Given the description of an element on the screen output the (x, y) to click on. 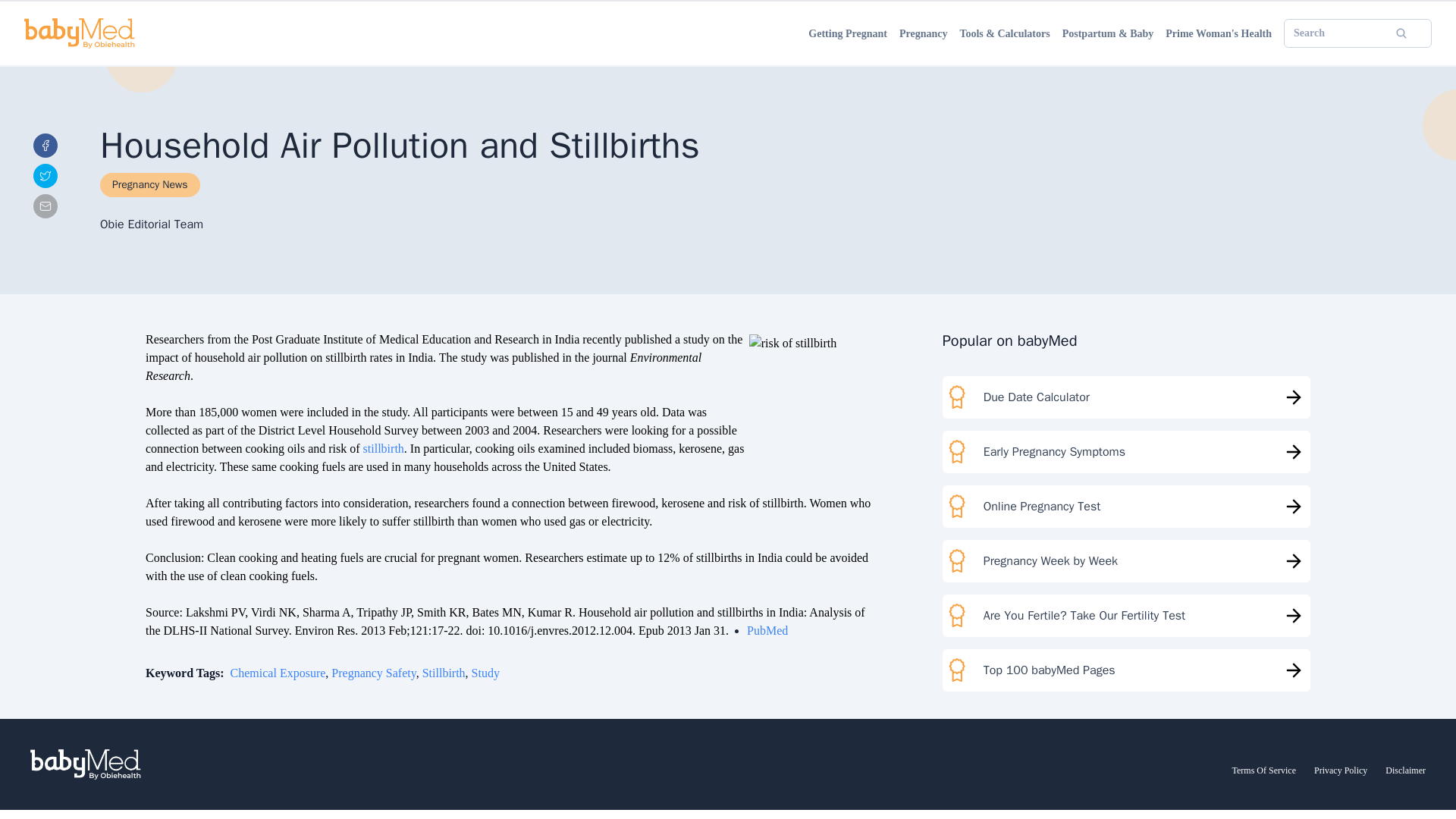
PubMed (56, 633)
Keyword Tags:chemical exposure (87, 658)
stillbirth (284, 658)
stillbirth (143, 512)
PubMed (56, 633)
Getting Pregnant (46, 42)
stillbirth (143, 512)
pregnancy safety (217, 658)
study (324, 658)
Pregnancy (31, 56)
